Given the description of an element on the screen output the (x, y) to click on. 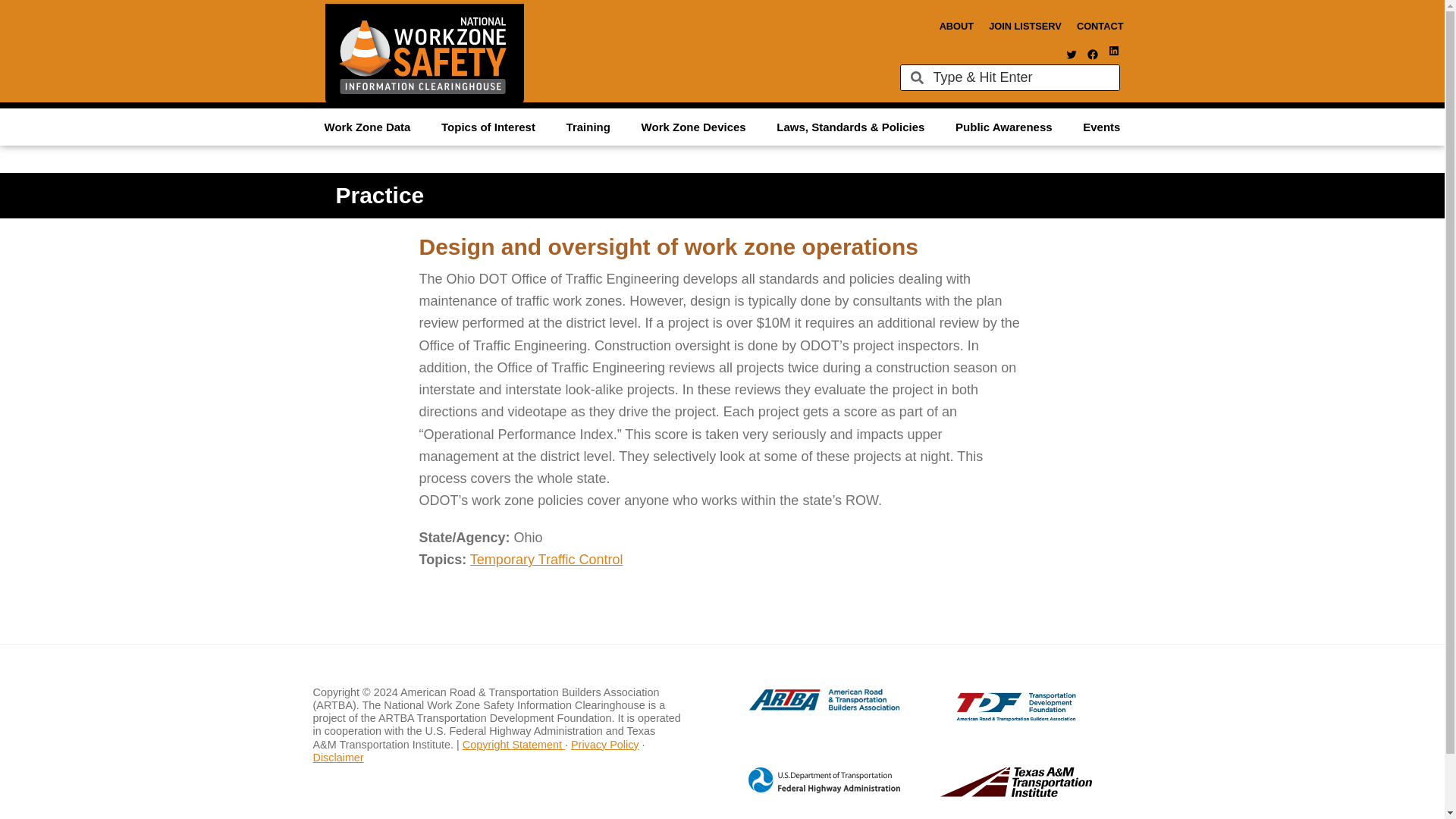
ABOUT (956, 25)
Search (1021, 77)
Topics of Interest (488, 126)
LINKEDIN (1112, 50)
TWITTER (1070, 54)
Work Zone Devices (693, 126)
FHWA website (808, 790)
JOIN LISTSERV (1024, 25)
Public Awareness (1003, 126)
FACEBOOK (1091, 54)
Temporary Traffic Control (546, 559)
Events (1101, 126)
ARTBA Transportation Development Foundation website (985, 716)
Work Zone Data (367, 126)
